Given the description of an element on the screen output the (x, y) to click on. 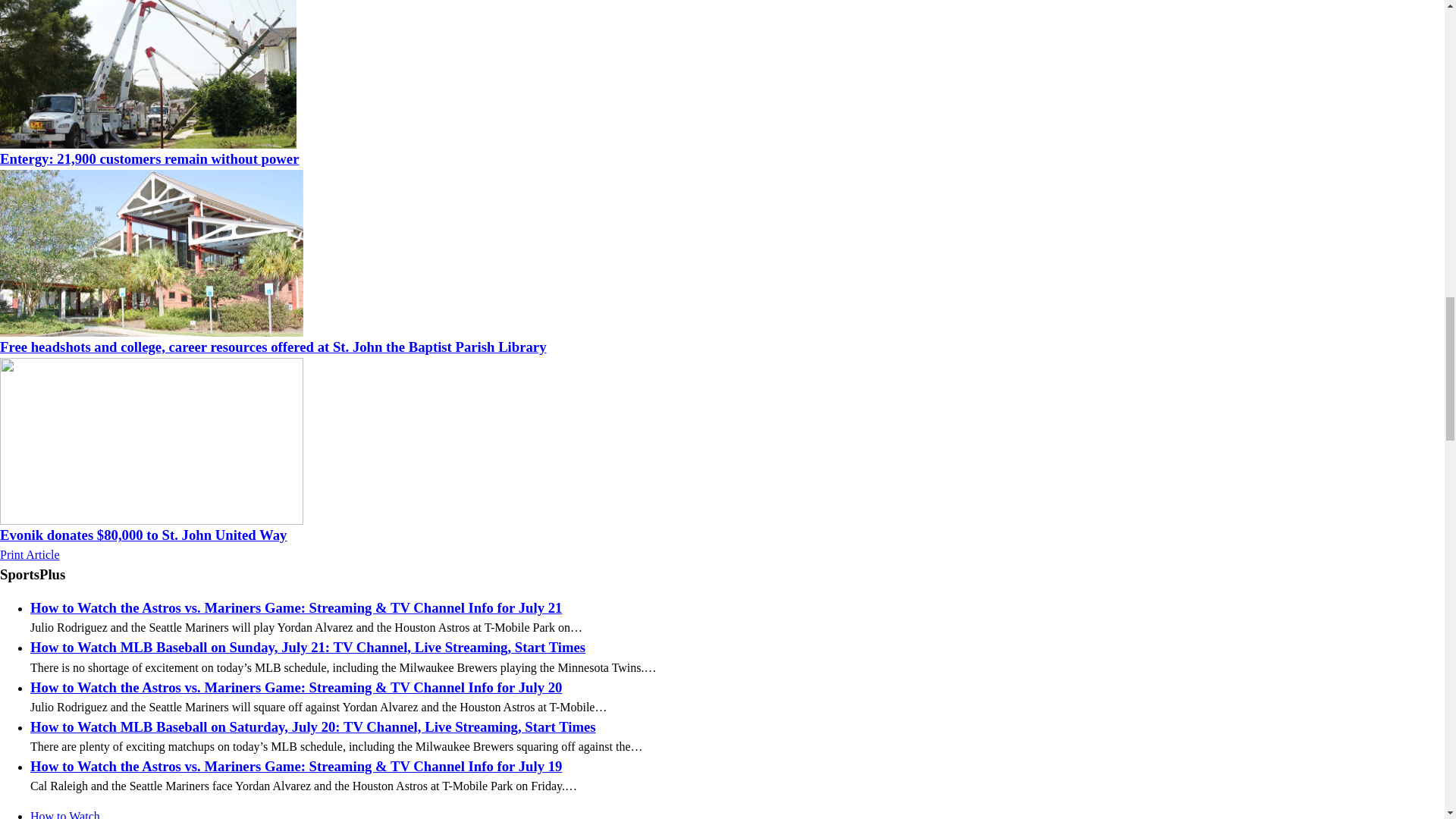
How to Watch (65, 814)
Entergy: 21,900 customers remain without power (149, 158)
Entergy: 21,900 customers remain without power (149, 158)
Print Article (29, 554)
